Given the description of an element on the screen output the (x, y) to click on. 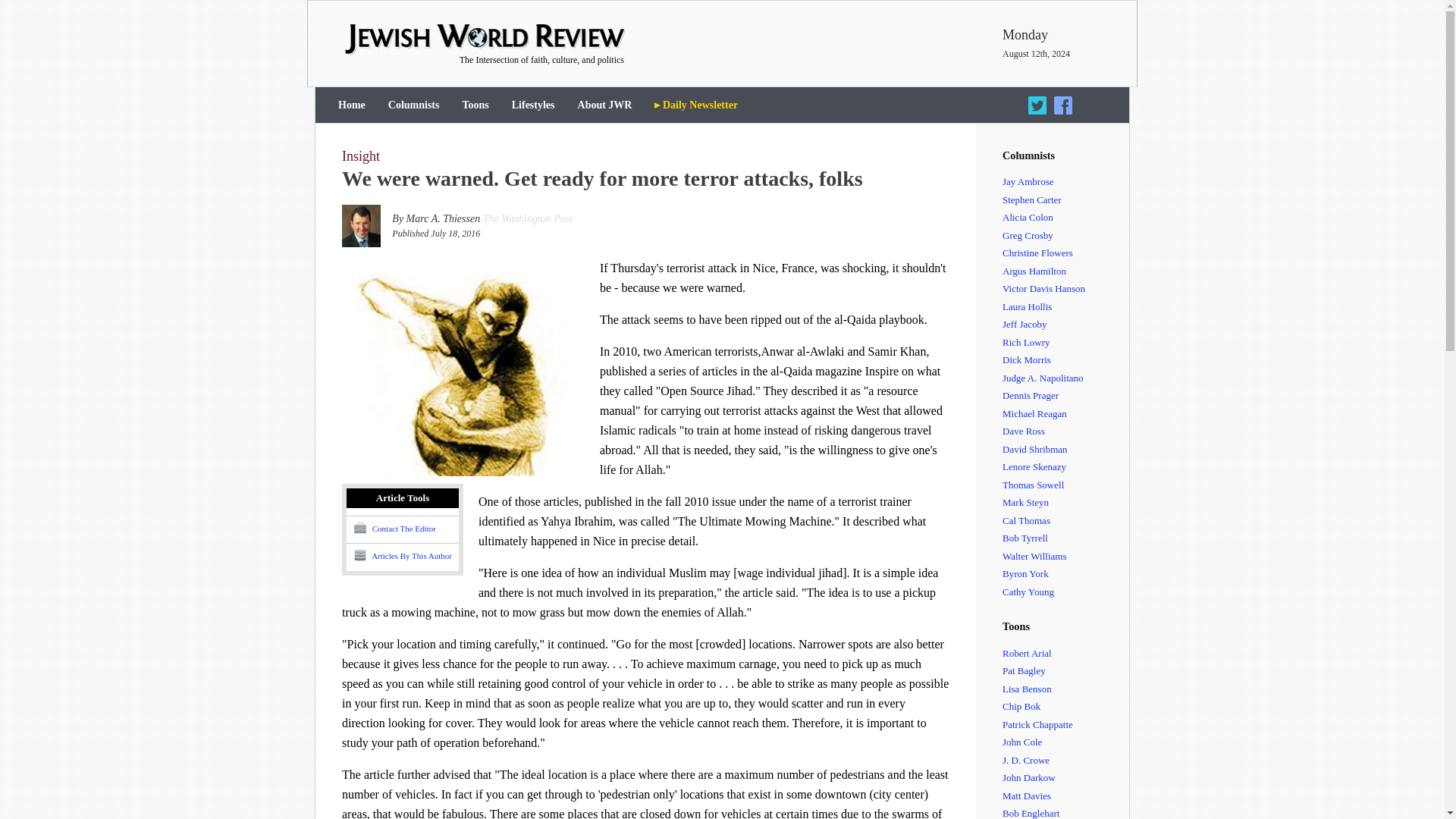
Columnists (414, 104)
Stephen Carter (1065, 199)
Dick Morris (1065, 360)
Alicia Colon (1065, 217)
Victor Davis Hanson (1065, 289)
Laura Hollis (1065, 307)
Argus Hamilton (1065, 271)
Dennis Prager (1065, 395)
About JWR (604, 104)
Christine Flowers (1065, 253)
